Given the description of an element on the screen output the (x, y) to click on. 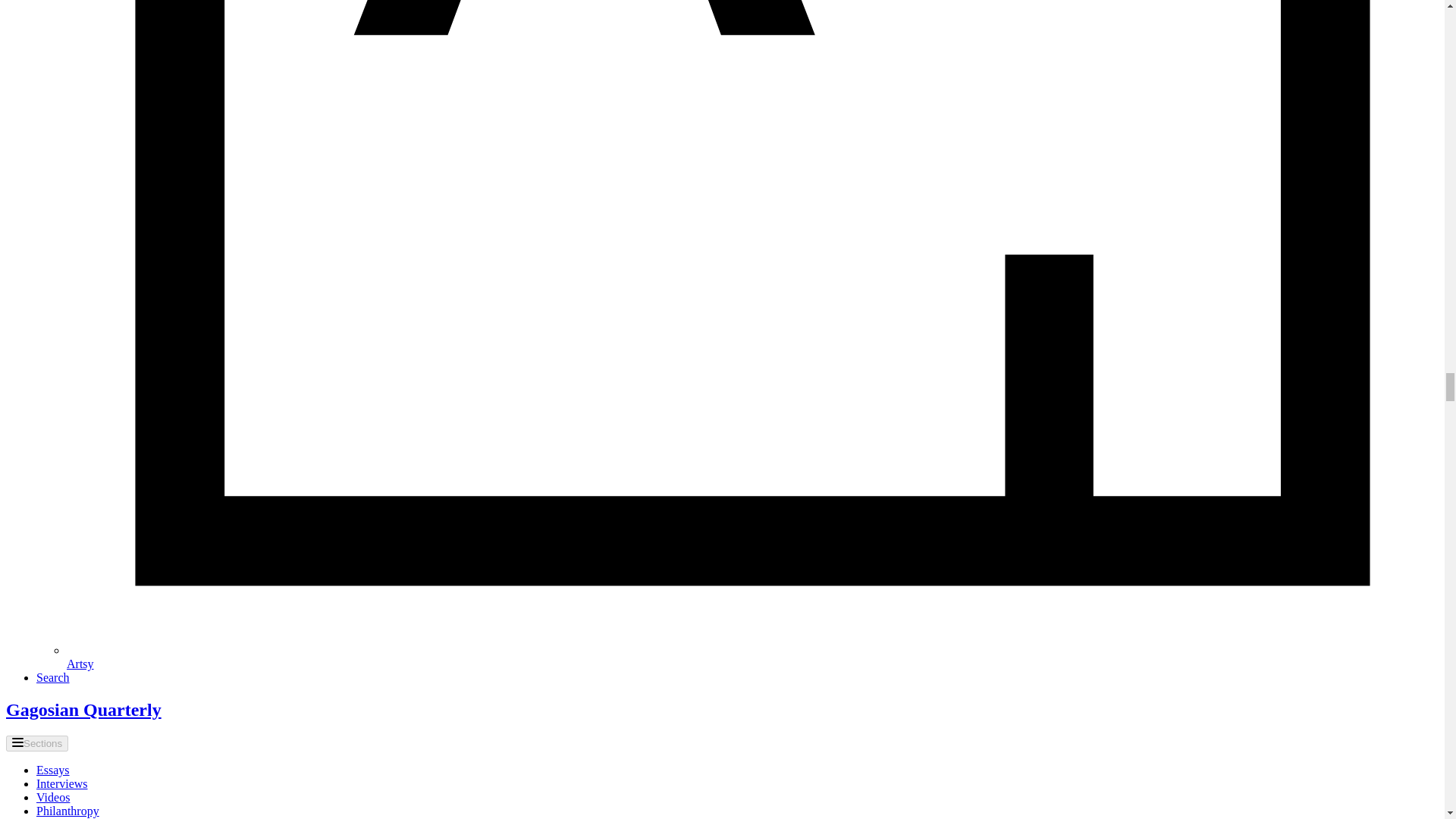
Employment Opportunities (347, 671)
About the Gallery (320, 637)
KON TRUBKOVICH (382, 17)
About Larry Gagosian (333, 654)
